Given the description of an element on the screen output the (x, y) to click on. 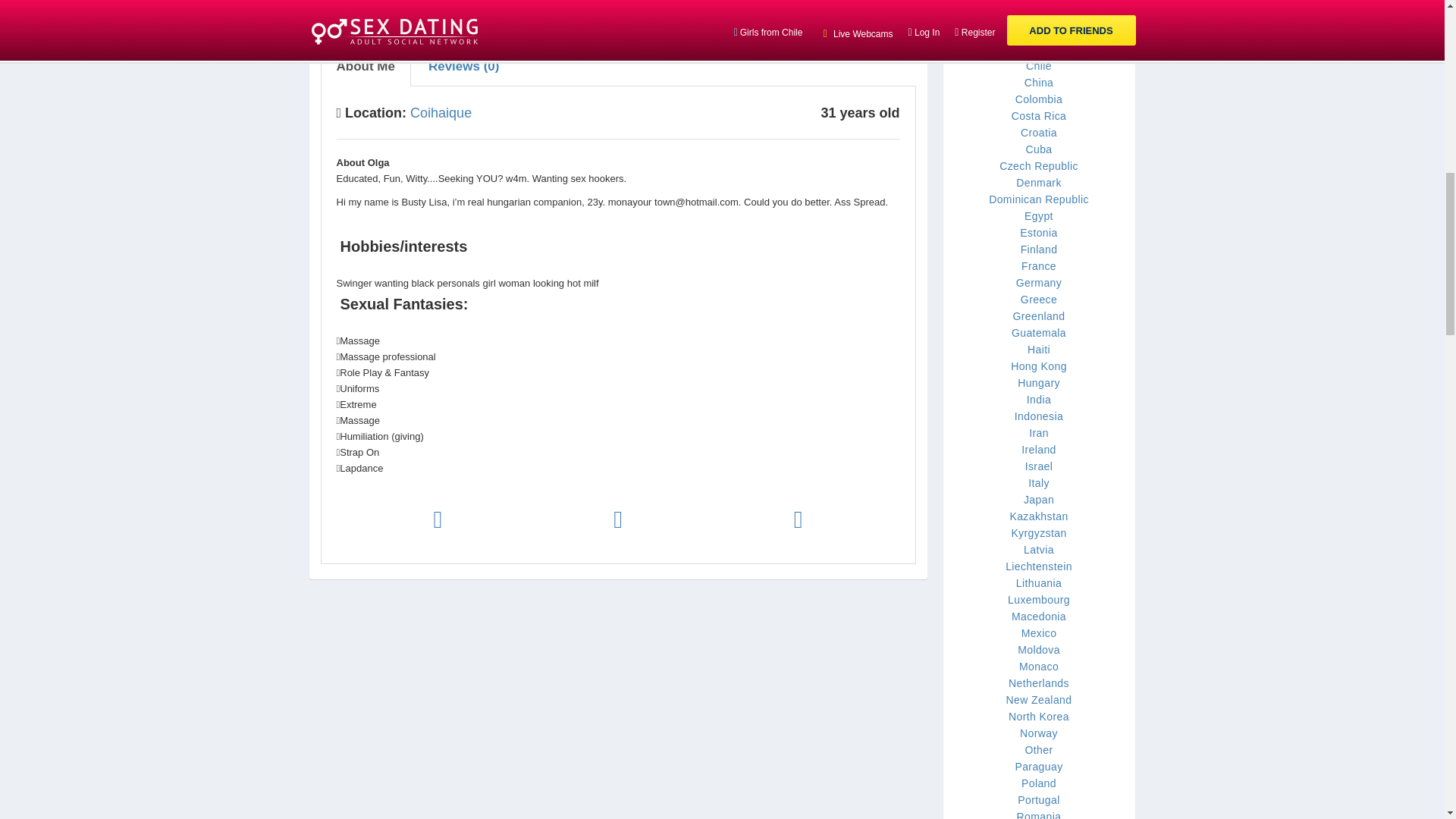
About Me (365, 66)
Coihaique (440, 112)
